Given the description of an element on the screen output the (x, y) to click on. 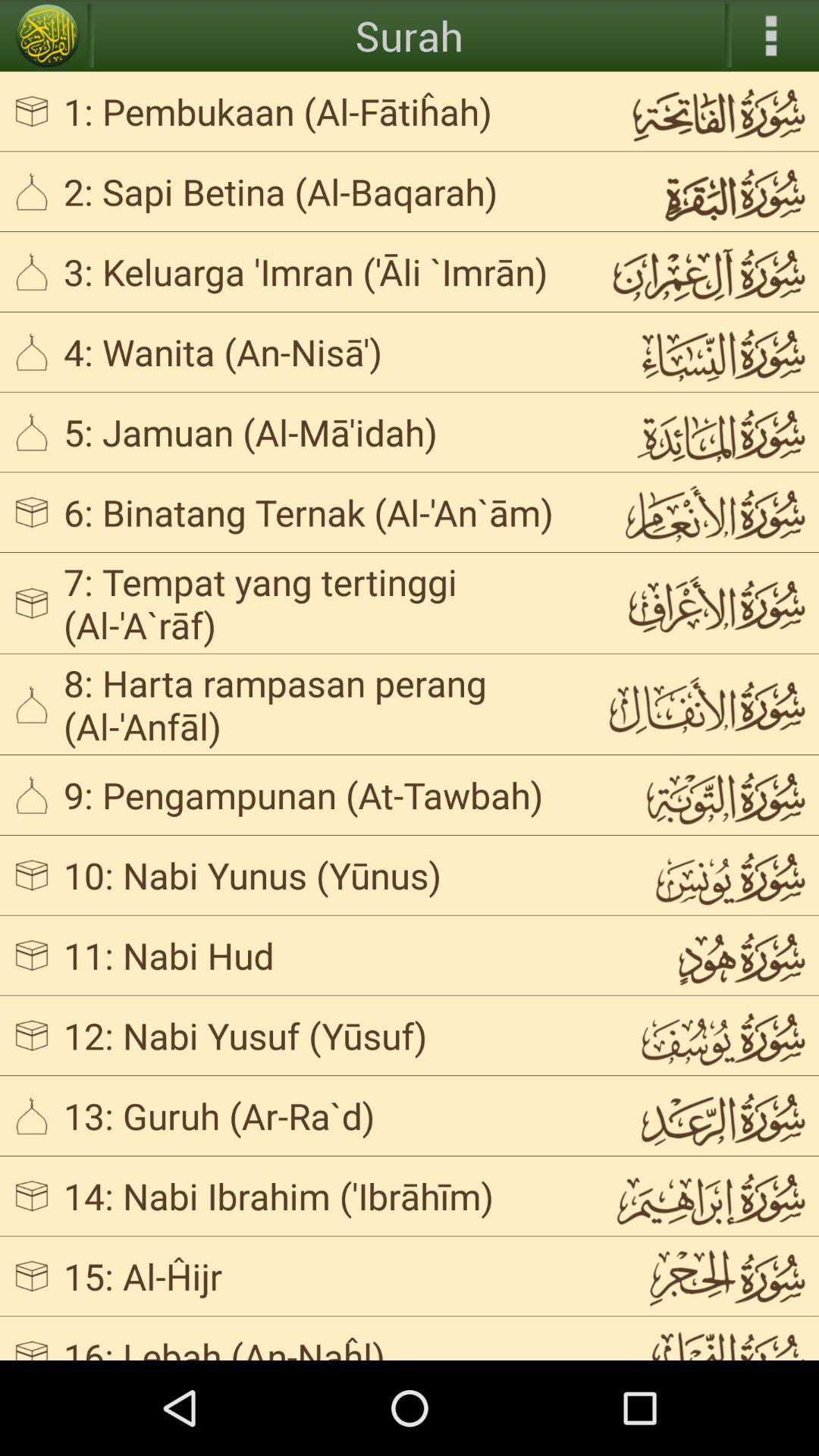
jump to the 4 wanita an item (322, 351)
